Given the description of an element on the screen output the (x, y) to click on. 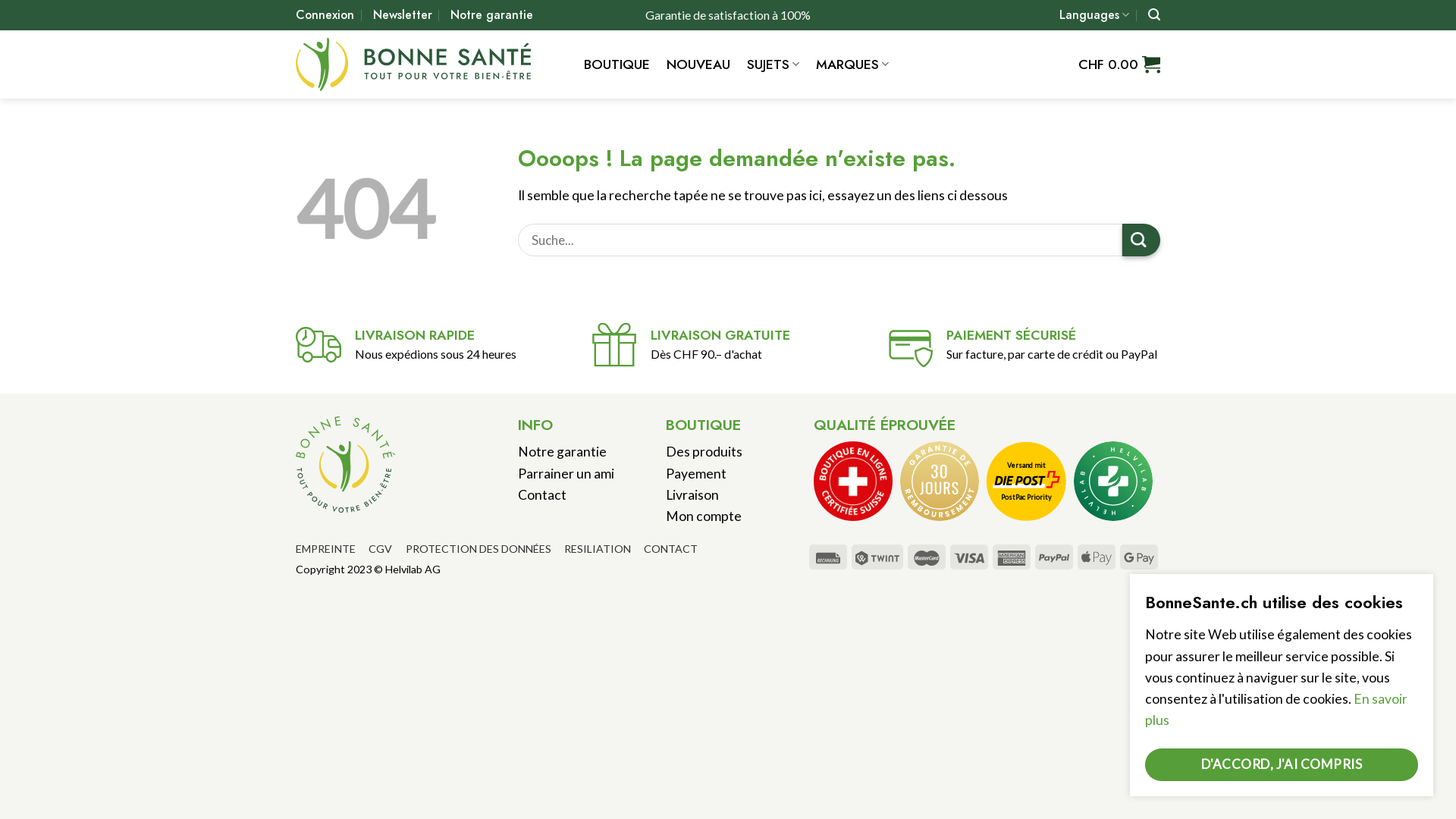
Skip to content Element type: text (0, 0)
Contact Element type: text (541, 494)
Mon compte Element type: text (703, 516)
NOUVEAU Element type: text (698, 64)
Parrainer un ami Element type: text (565, 473)
EMPREINTE Element type: text (325, 548)
Notre garantie Element type: text (491, 14)
Notre garantie Element type: text (561, 451)
En savoir plus Element type: text (1276, 709)
D'ACCORD, J'AI COMPRIS Element type: text (1281, 764)
Connexion Element type: text (324, 14)
Newsletter Element type: text (402, 14)
SUJETS Element type: text (772, 63)
Livraison Element type: text (691, 494)
Payement Element type: text (695, 473)
BOUTIQUE Element type: text (616, 64)
BonneSante.ch Element type: hover (428, 64)
Des produits Element type: text (703, 451)
RESILIATION Element type: text (597, 548)
Languages Element type: text (1094, 14)
CGV Element type: text (380, 548)
CHF 0.00 Element type: text (1119, 64)
CONTACT Element type: text (670, 548)
MARQUES Element type: text (851, 63)
